Given the description of an element on the screen output the (x, y) to click on. 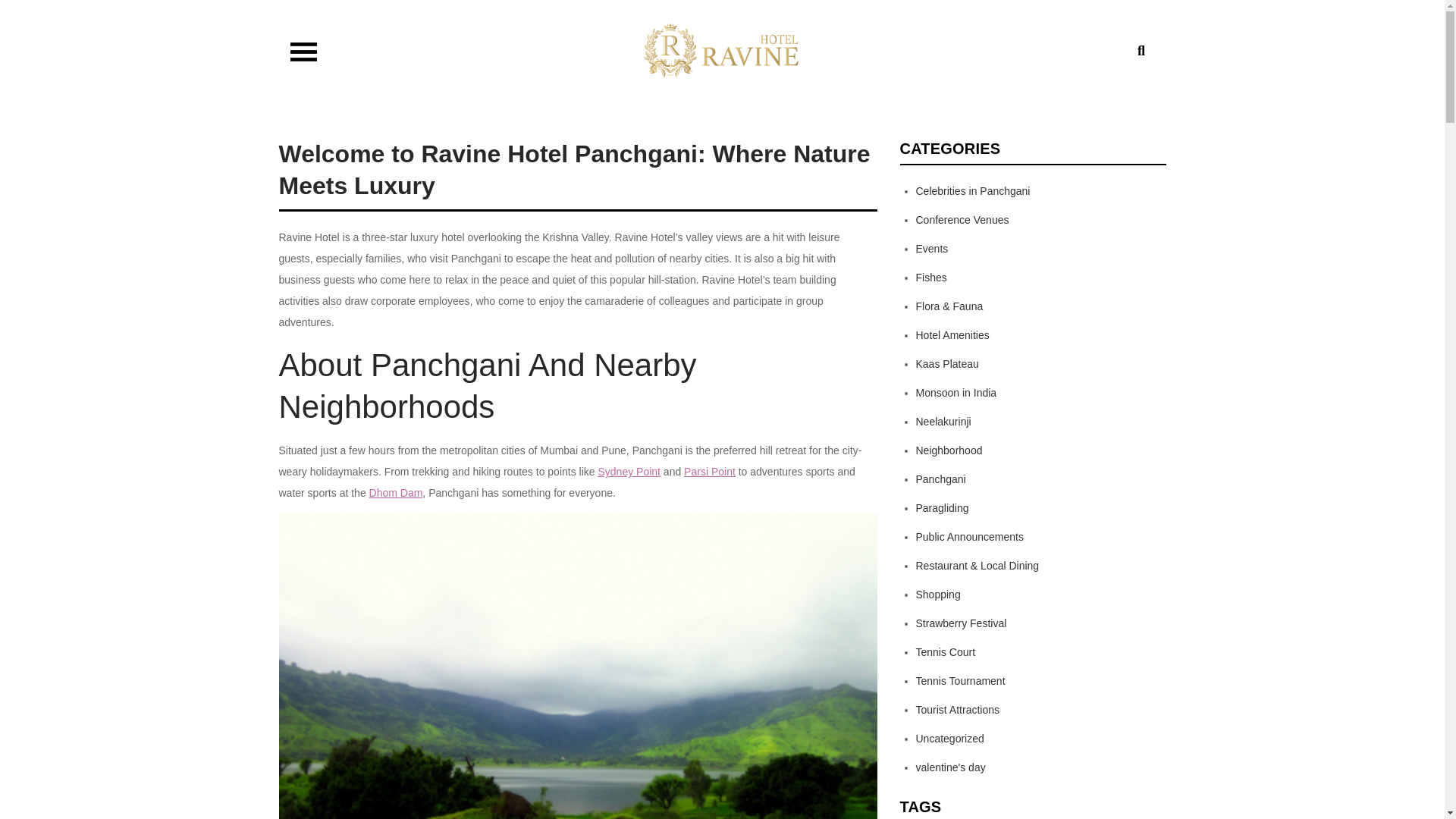
Dhom Dam (396, 492)
Sydney Point (628, 471)
Parsi Point (709, 471)
